Given the description of an element on the screen output the (x, y) to click on. 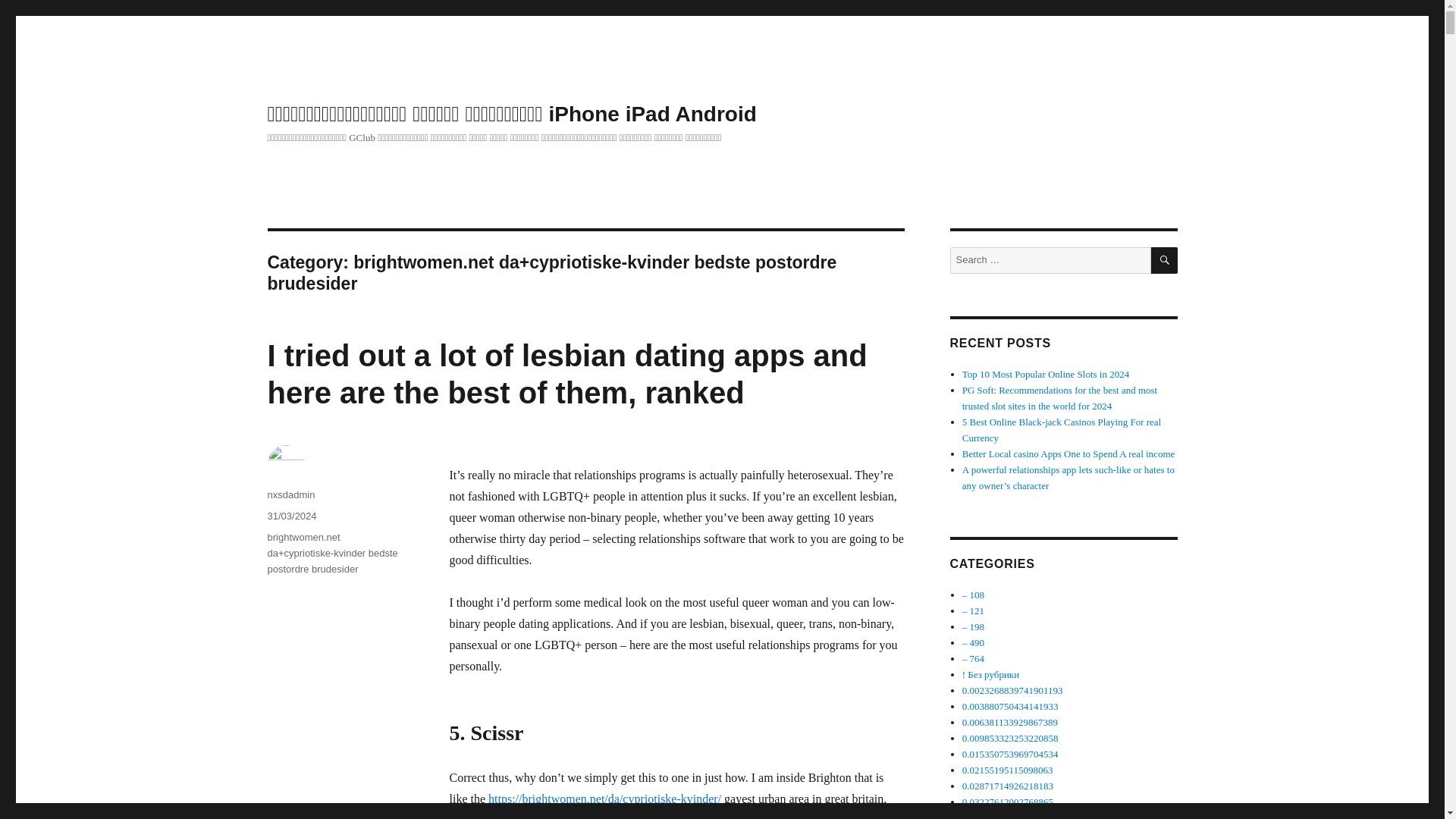
0.003880750434141933 (1010, 706)
Better Local casino Apps One to Spend A real income (1068, 453)
0.009853323253220858 (1010, 737)
0.02871714926218183 (1007, 785)
nxsdadmin (290, 494)
0.038674021625345056 (1010, 815)
0.02155195115098063 (1007, 769)
SEARCH (1164, 260)
5 Best Online Black-jack Casinos Playing For real Currency (1061, 429)
0.015350753969704534 (1010, 754)
